Given the description of an element on the screen output the (x, y) to click on. 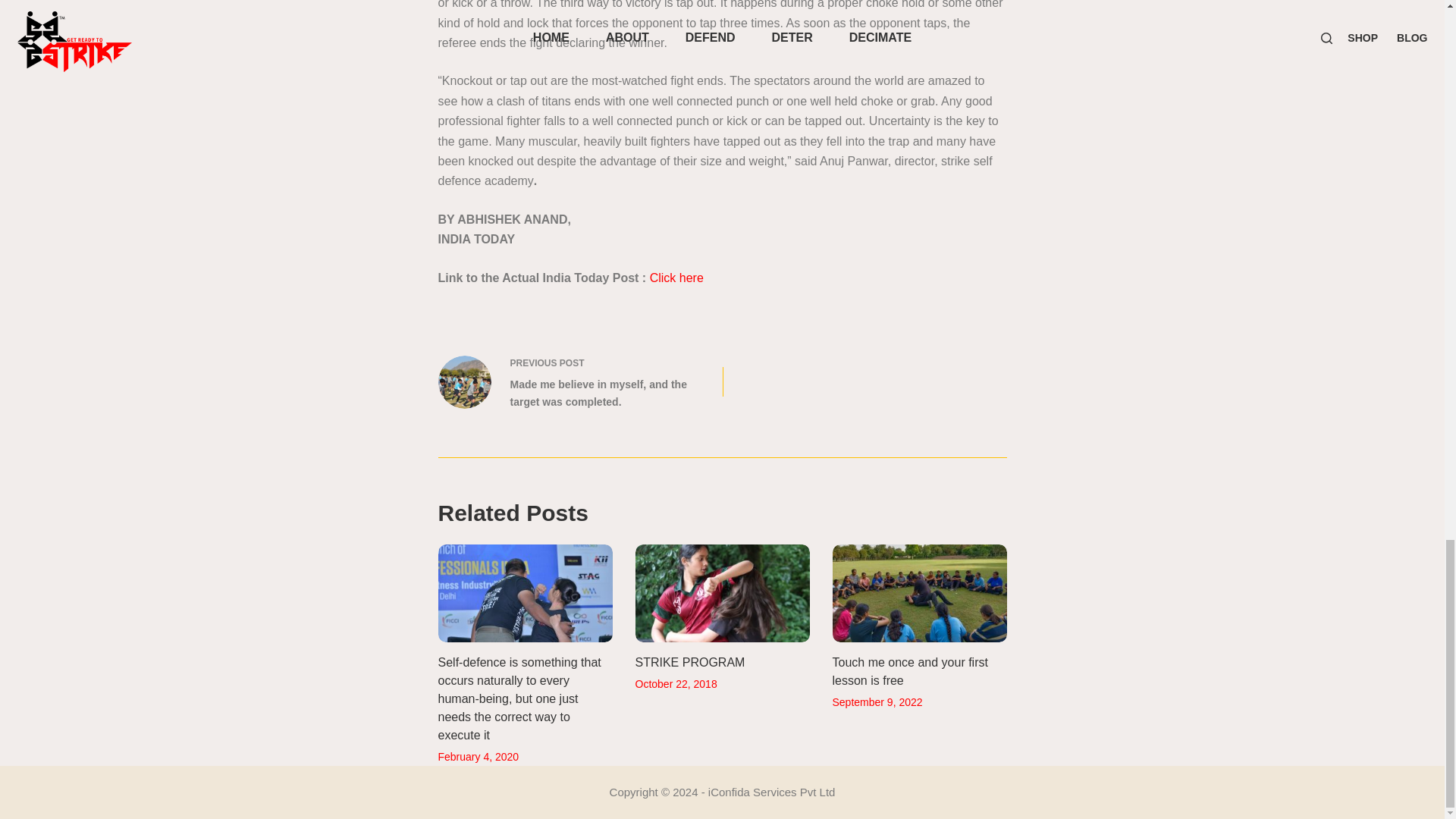
STRIKE PROGRAM (689, 662)
Click here  (678, 277)
Touch me once and your first lesson is free (910, 671)
